Given the description of an element on the screen output the (x, y) to click on. 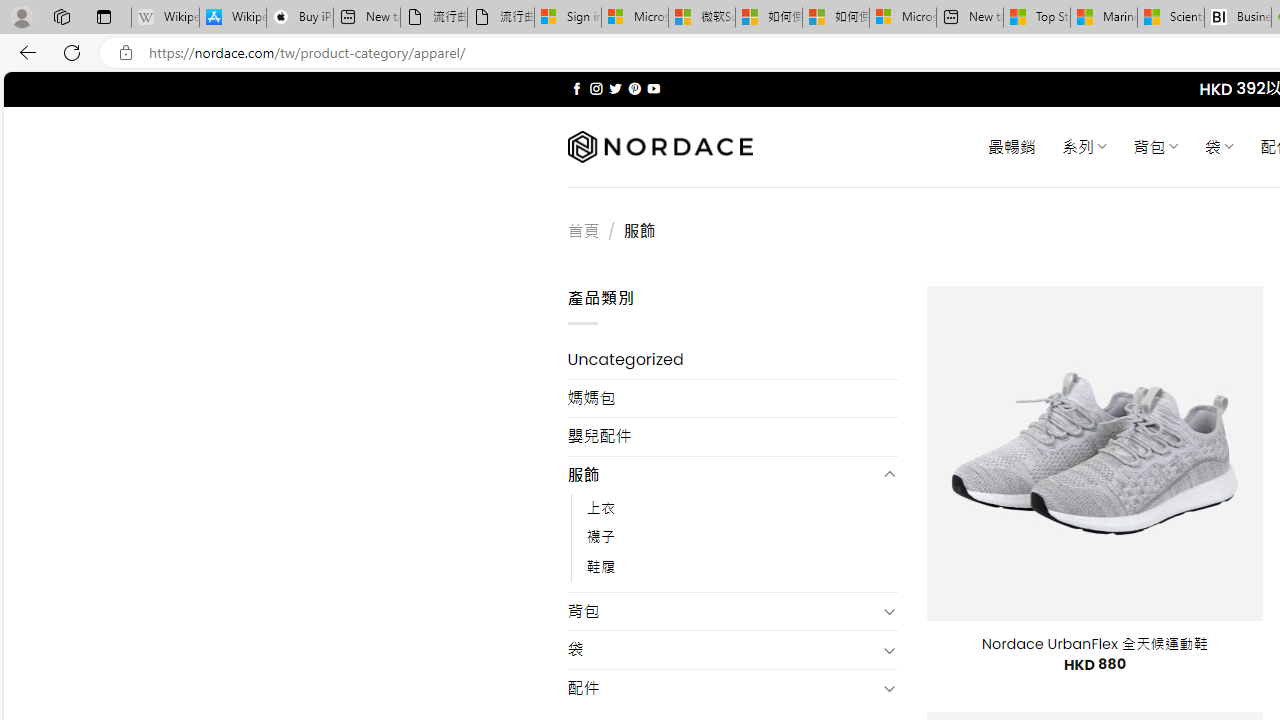
Buy iPad - Apple (299, 17)
